Given the description of an element on the screen output the (x, y) to click on. 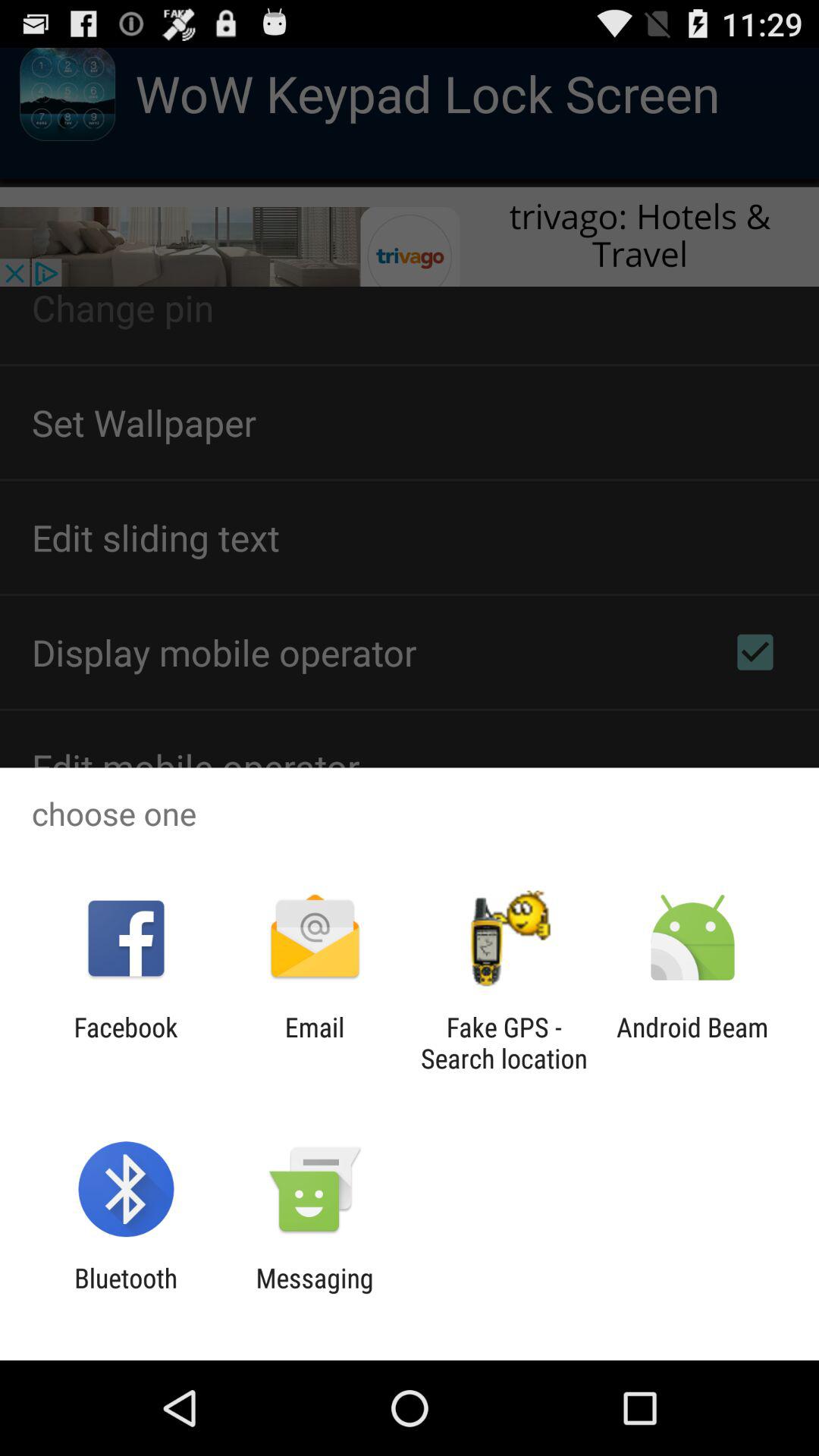
scroll until the facebook (125, 1042)
